Given the description of an element on the screen output the (x, y) to click on. 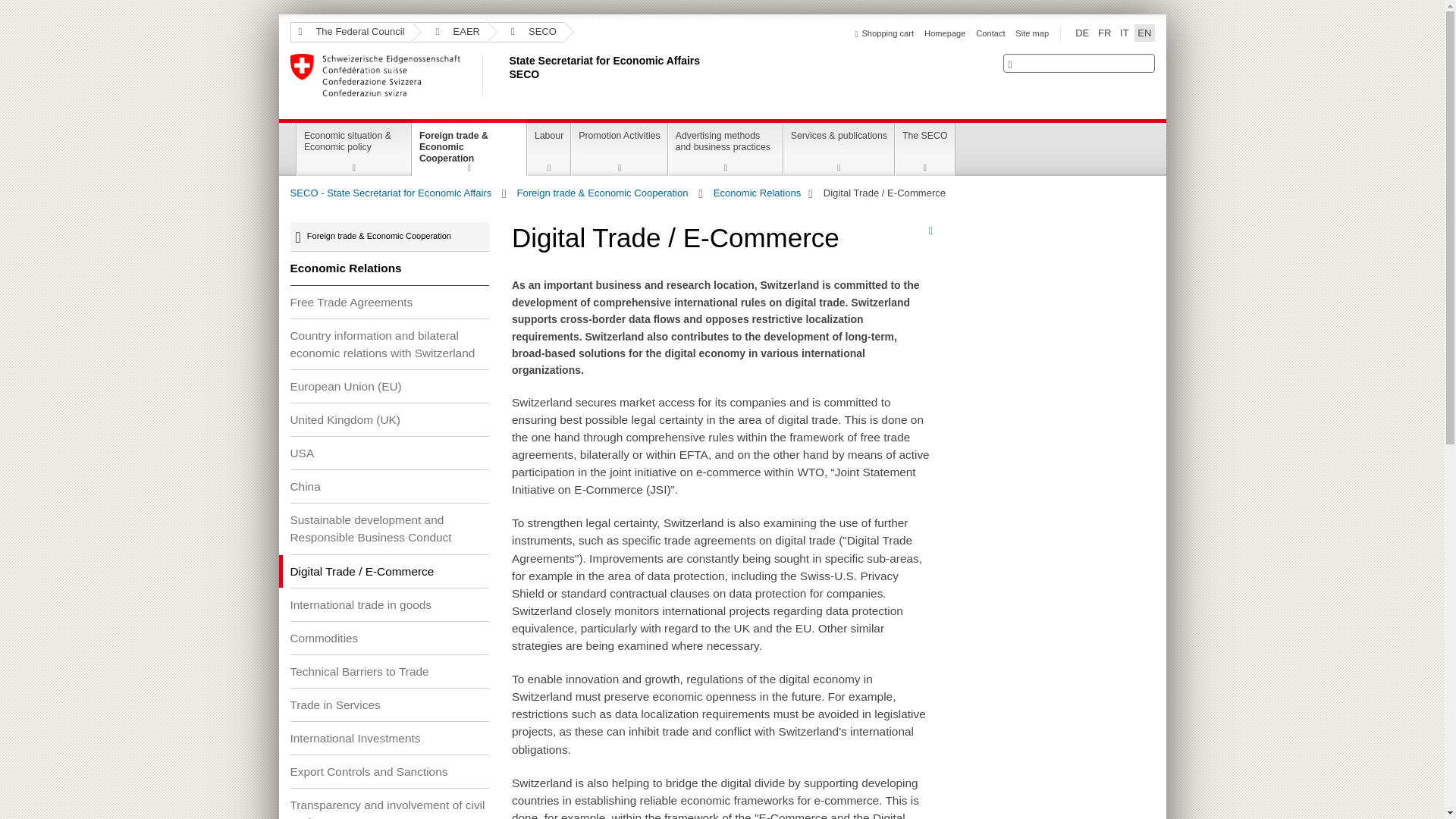
German (1081, 32)
Homepage (944, 32)
English selected (1144, 32)
Site map (1031, 32)
State Secretariat for Economic Affairs SECO (505, 75)
The Federal Council (350, 32)
EAER (449, 32)
FR (1103, 32)
SECO (525, 32)
DE (1081, 32)
Contact (989, 32)
Shopping cart (884, 32)
French (1103, 32)
EN (1144, 32)
